Given the description of an element on the screen output the (x, y) to click on. 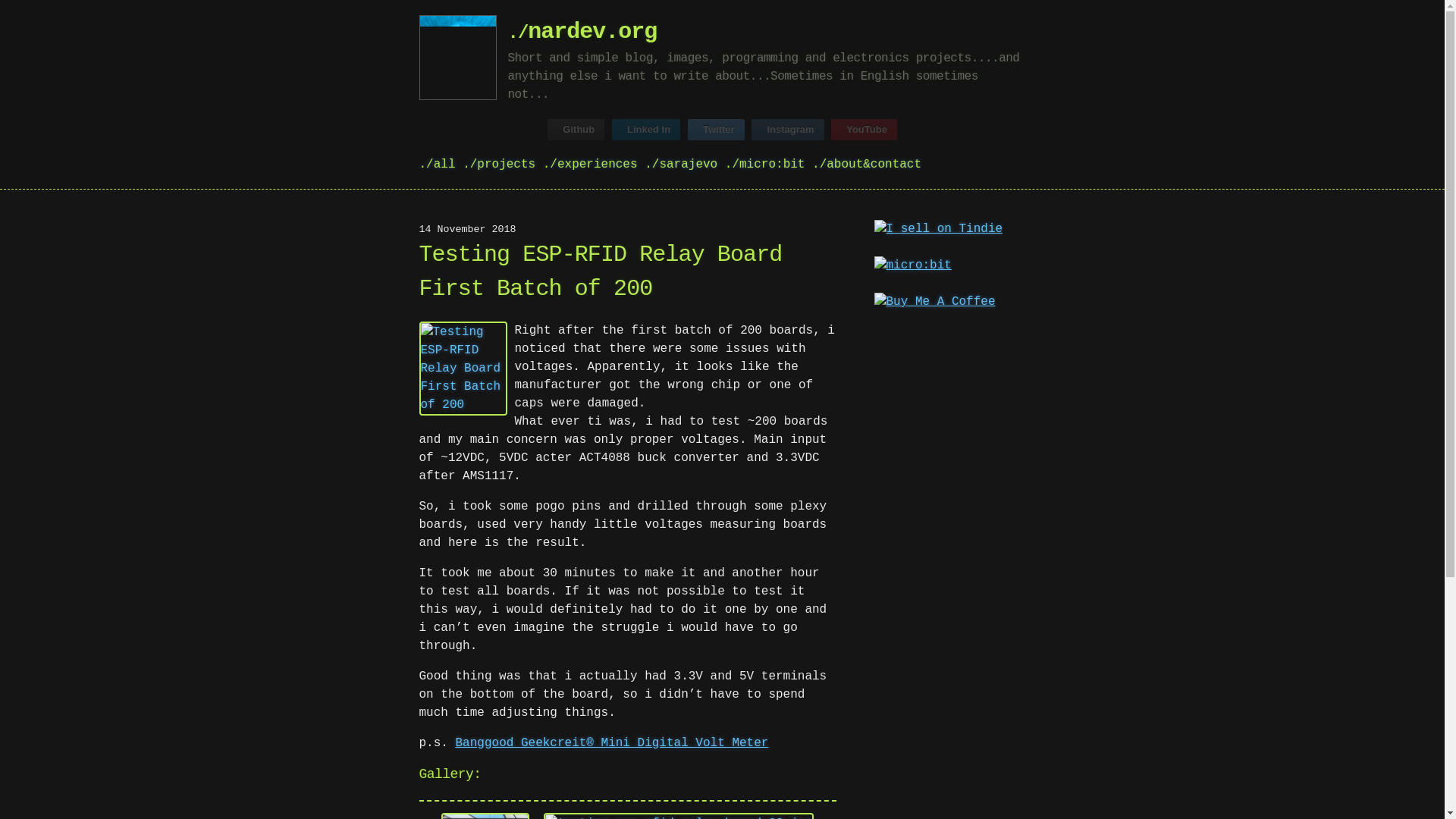
  Instagram (787, 129)
  Linked In (645, 129)
  Github (575, 129)
  YouTube (863, 129)
projects (499, 164)
sarajevo (681, 164)
micro:bit (765, 164)
experiences (590, 164)
  Twitter (715, 129)
all (436, 164)
